Given the description of an element on the screen output the (x, y) to click on. 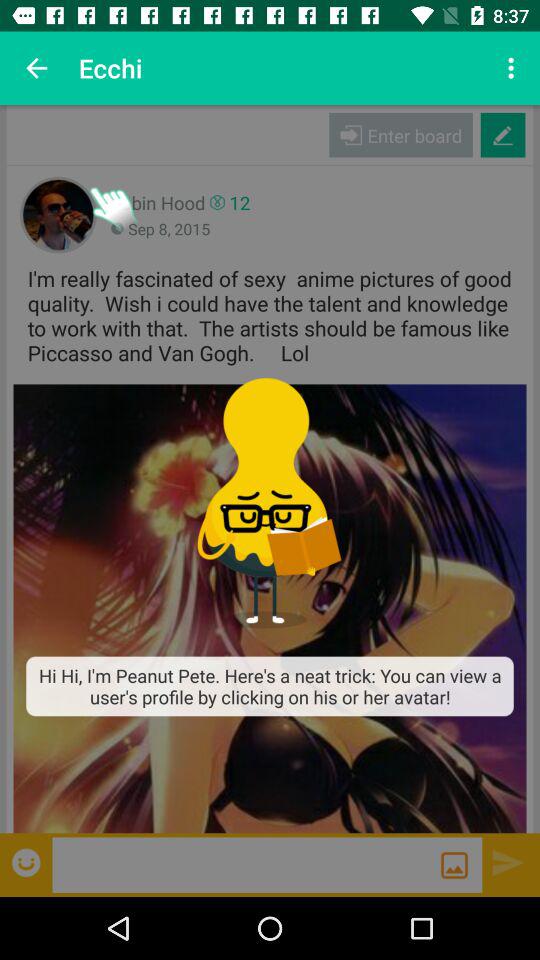
smiley button (28, 862)
